Given the description of an element on the screen output the (x, y) to click on. 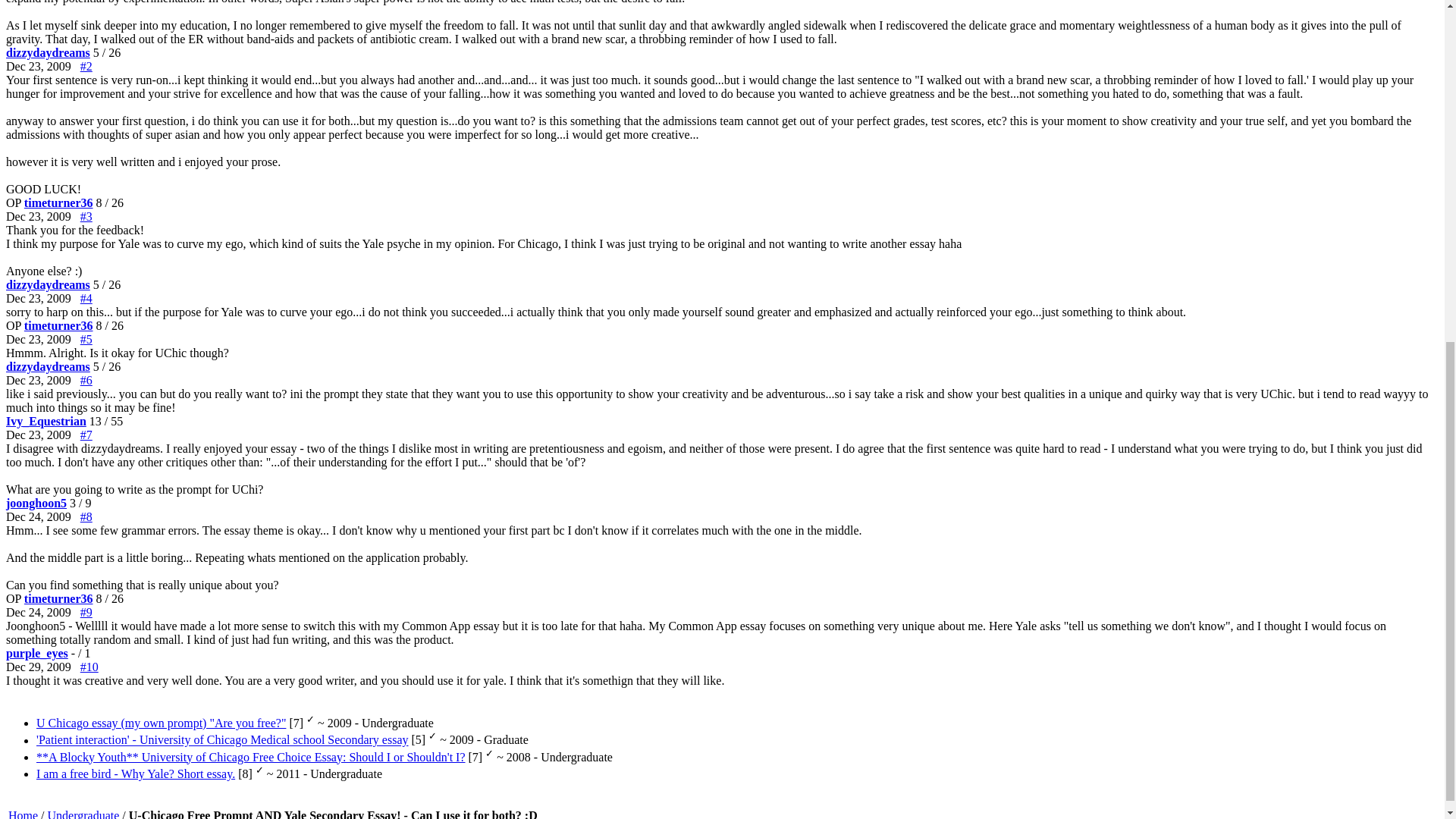
I am a free bird - Why Yale? Short essay. (135, 773)
timeturner36 (58, 325)
timeturner36 (58, 202)
timeturner36 (58, 598)
dizzydaydreams (47, 366)
dizzydaydreams (47, 51)
dizzydaydreams (47, 284)
joonghoon5 (35, 502)
